Given the description of an element on the screen output the (x, y) to click on. 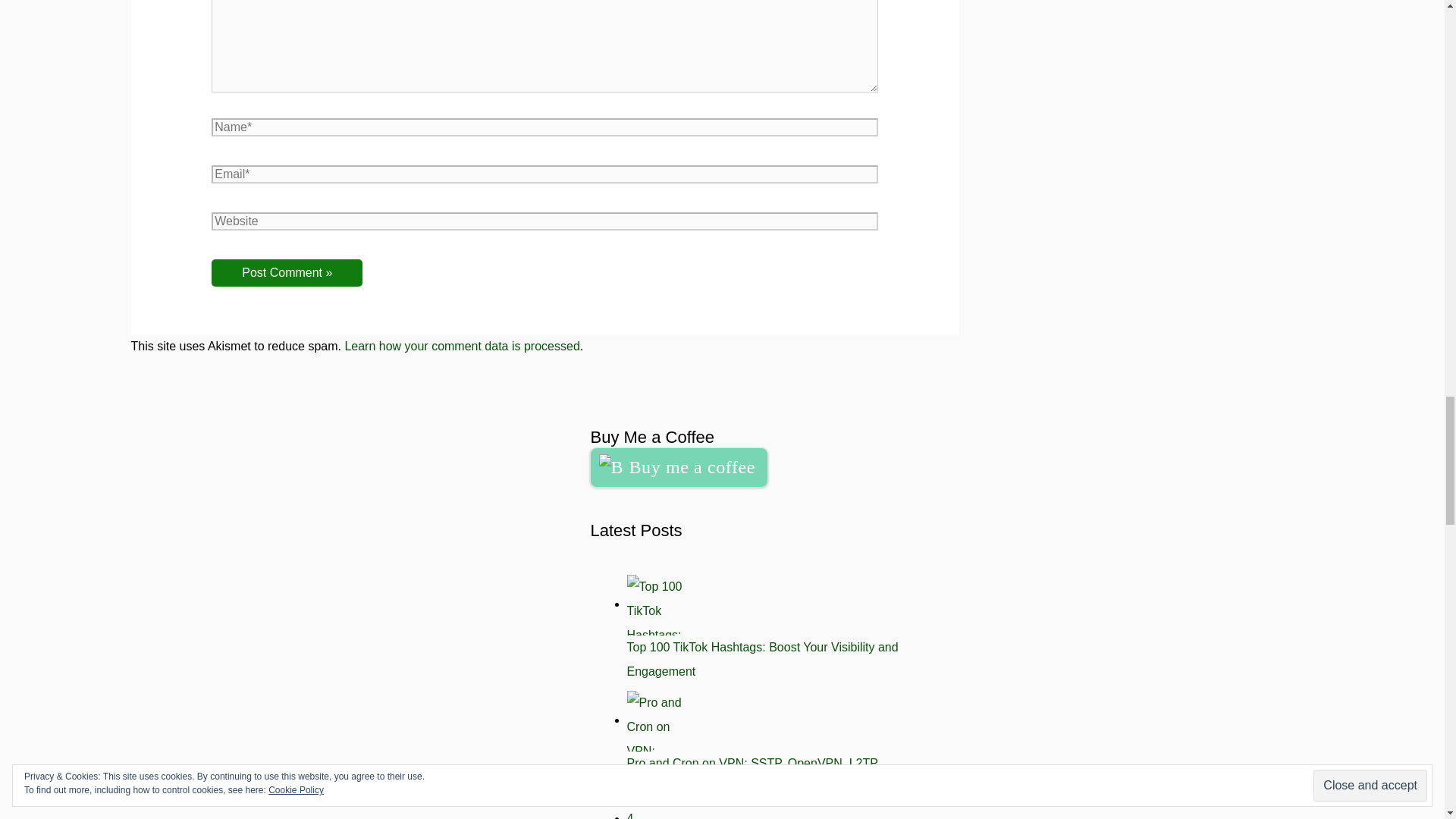
4 (629, 815)
Pro and Cron on VPN: SSTP, OpenVPN, L2TP and PPTP (751, 774)
Learn how your comment data is processed (461, 345)
Pro and Cron on VPN: SSTP, OpenVPN, L2TP and PPTP 2 (656, 721)
Buy me a coffee (678, 466)
